Given the description of an element on the screen output the (x, y) to click on. 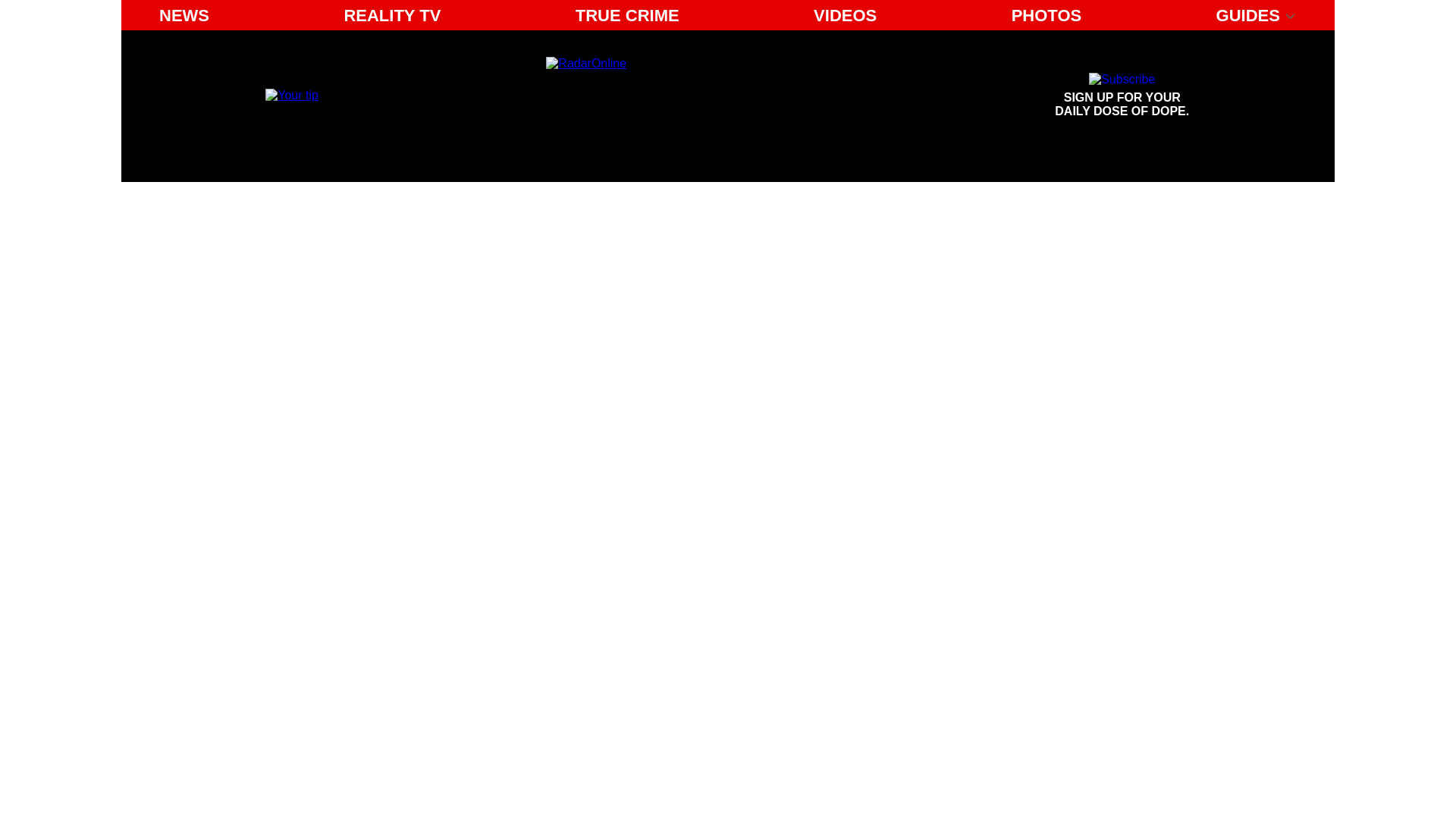
REALITY TV (392, 15)
TRUE CRIME (1122, 94)
VIDEOS (627, 15)
Sign up for your daily dose of dope. (844, 15)
Email us your tip (1122, 94)
Radar Online (291, 94)
NEWS (685, 95)
PHOTOS (183, 15)
